Given the description of an element on the screen output the (x, y) to click on. 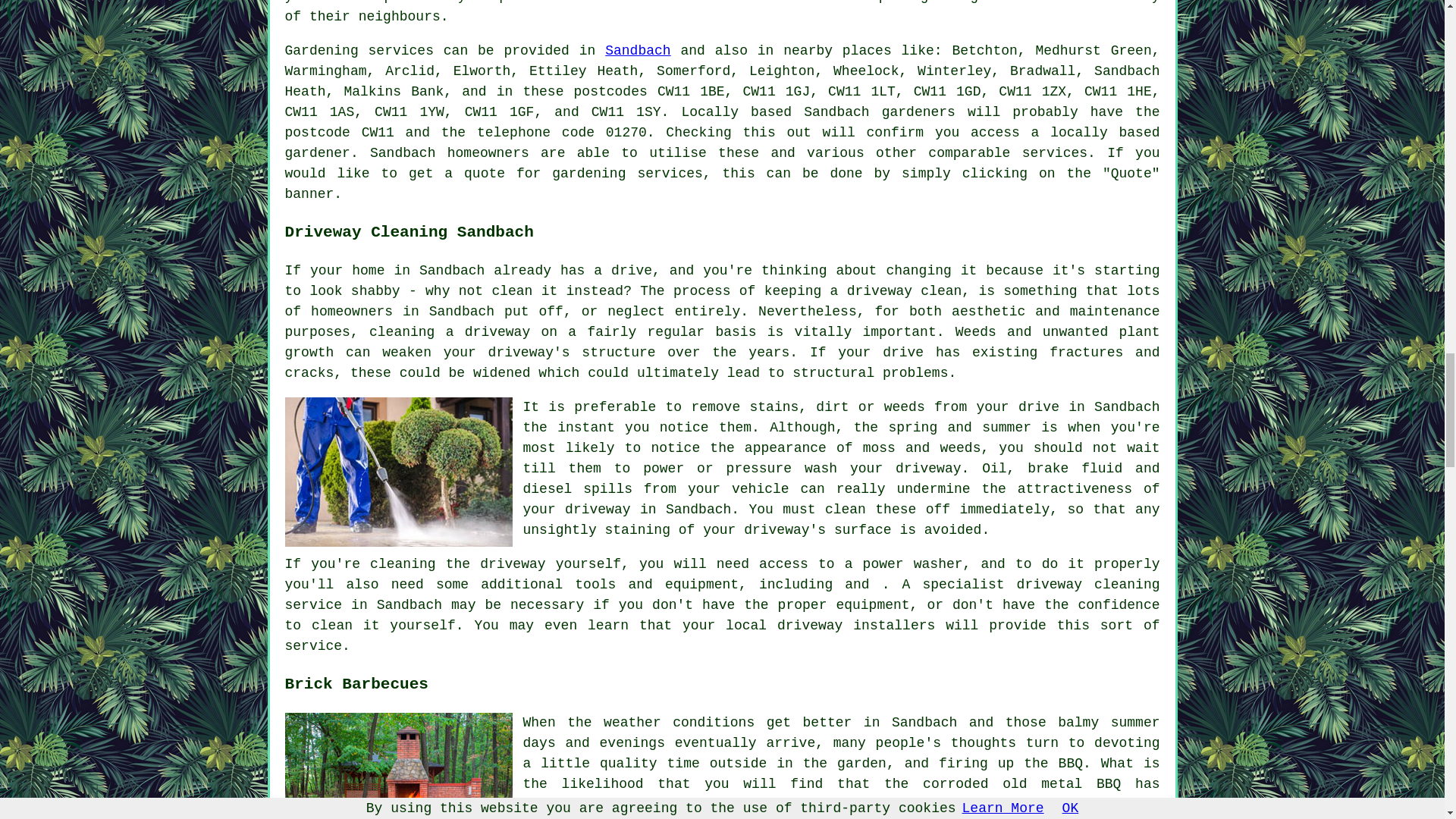
garden (994, 2)
Driveway Cleaning Sandbach (398, 472)
